Given the description of an element on the screen output the (x, y) to click on. 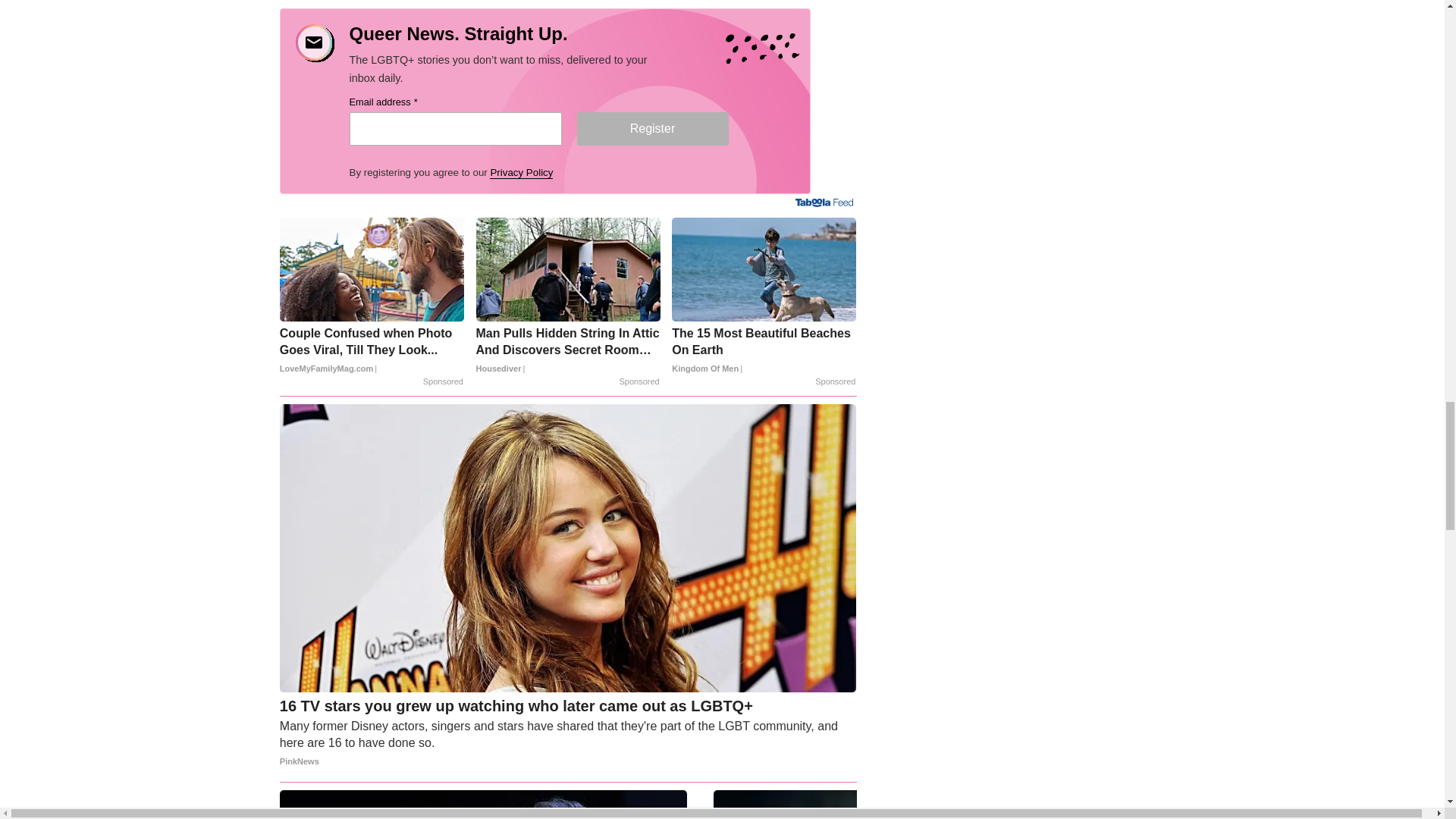
The 15 Most Beautiful Beaches On Earth (763, 350)
Couple Confused when Photo Goes Viral, Till They Look... (371, 350)
